Given the description of an element on the screen output the (x, y) to click on. 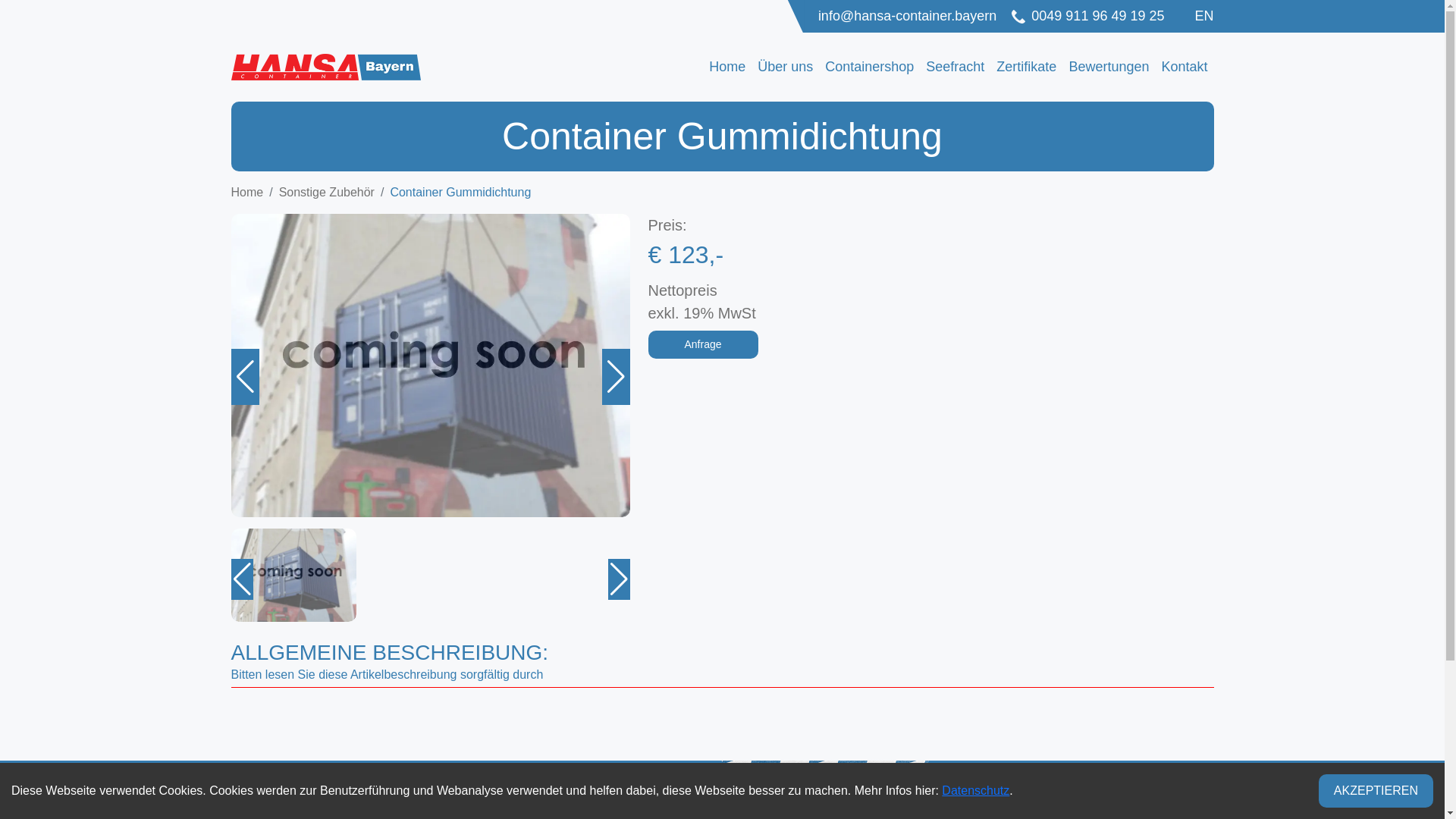
info@hansa-container.bayern Element type: text (907, 16)
Zertifikate Element type: text (1026, 66)
Hansa LinkedIn Element type: hover (1201, 799)
Datenschutz Element type: text (975, 790)
EN Element type: text (1203, 15)
Kontakt Element type: text (1183, 66)
0049 911 96 49 19 25 Element type: text (1087, 16)
Hansa Facebook Element type: hover (1053, 799)
Hansa Ebay Element type: hover (1119, 799)
Hansa Element type: hover (1167, 799)
Hansa YouTube Element type: hover (1027, 799)
Seefracht Element type: text (954, 66)
Hansa Instagram Element type: hover (1076, 799)
Containershop Element type: text (869, 66)
AKZEPTIEREN Element type: text (1375, 790)
Anfrage Element type: text (702, 344)
Bewertungen Element type: text (1108, 66)
Home Element type: text (246, 191)
Home Element type: text (726, 66)
